Given the description of an element on the screen output the (x, y) to click on. 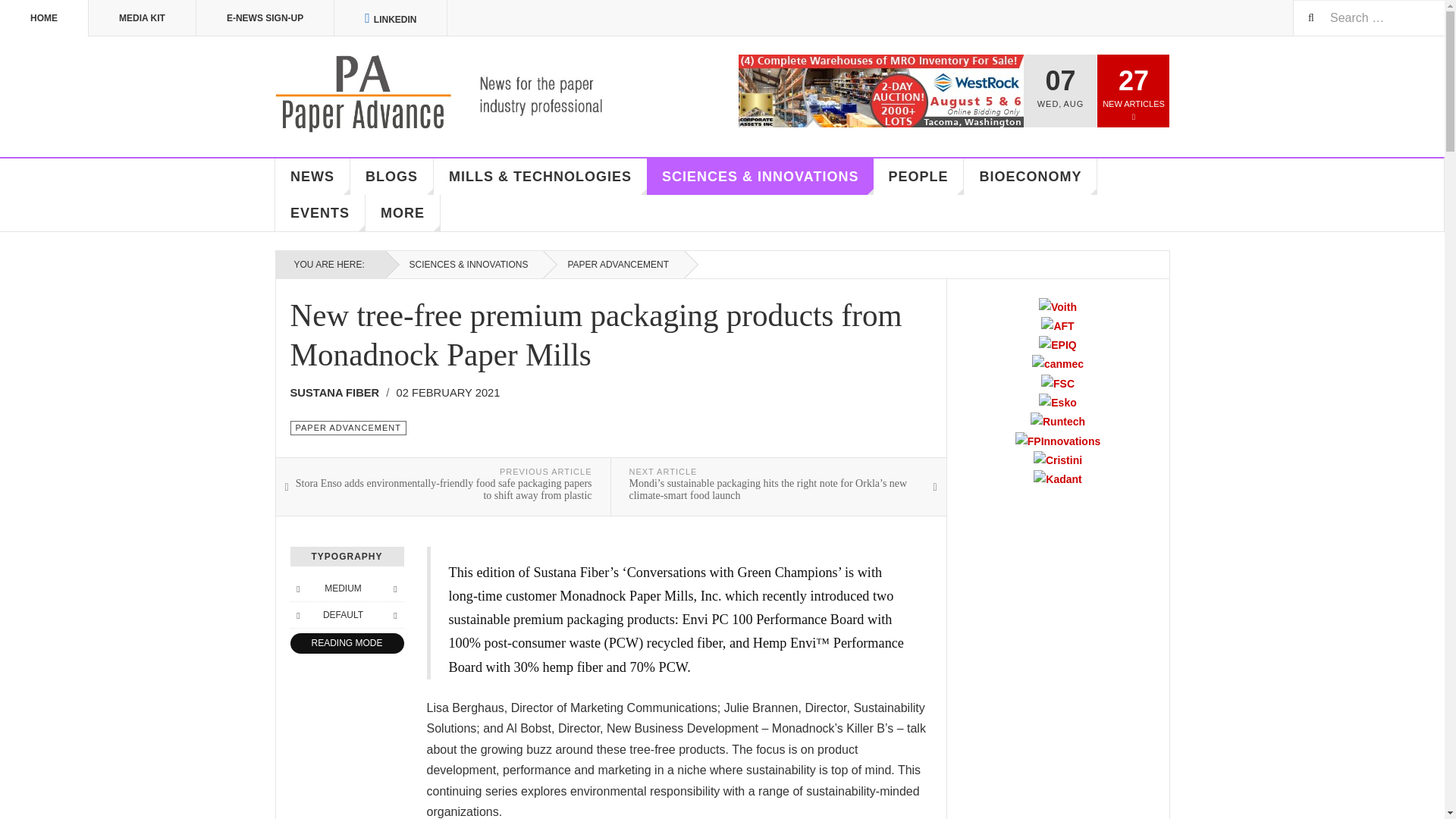
LINKEDIN (390, 18)
Paper Advance (461, 93)
MEDIA KIT (142, 18)
NEWS (312, 176)
E-NEWS SIGN-UP (265, 18)
HOME (44, 18)
